Given the description of an element on the screen output the (x, y) to click on. 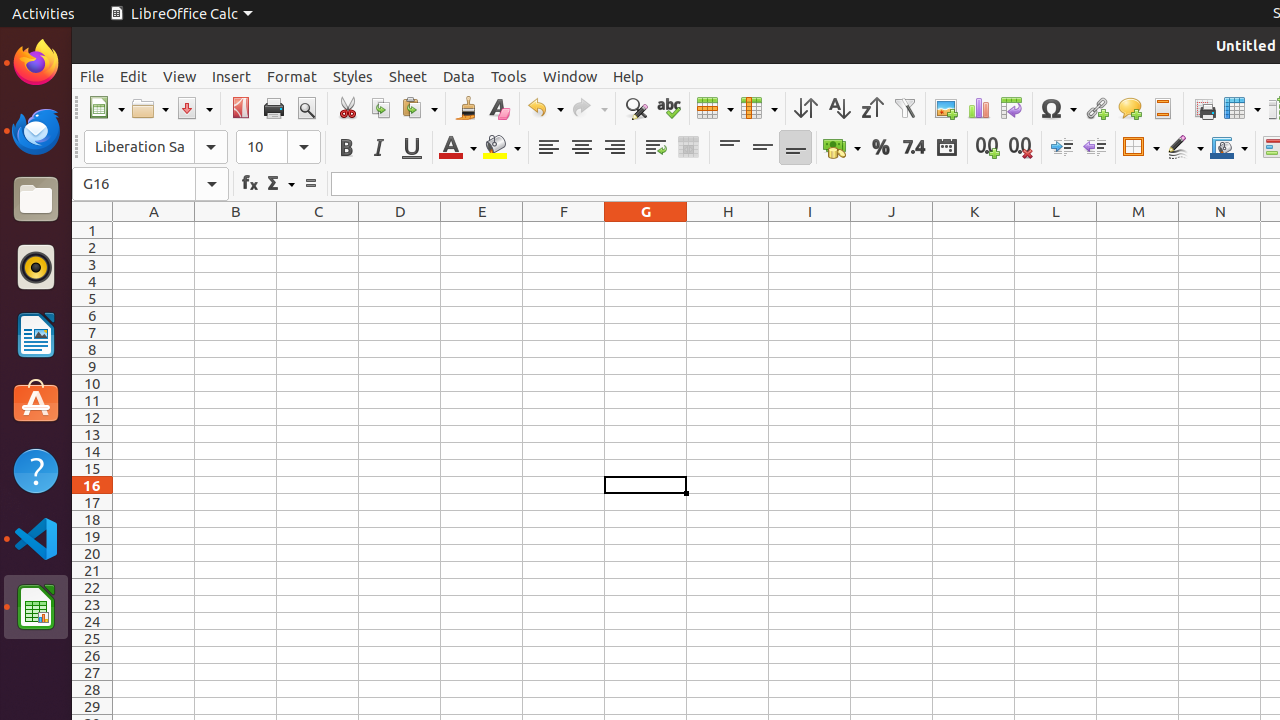
H1 Element type: table-cell (728, 230)
Sort Element type: push-button (805, 108)
Sort Ascending Element type: push-button (838, 108)
Align Left Element type: push-button (548, 147)
Print Element type: push-button (273, 108)
